Given the description of an element on the screen output the (x, y) to click on. 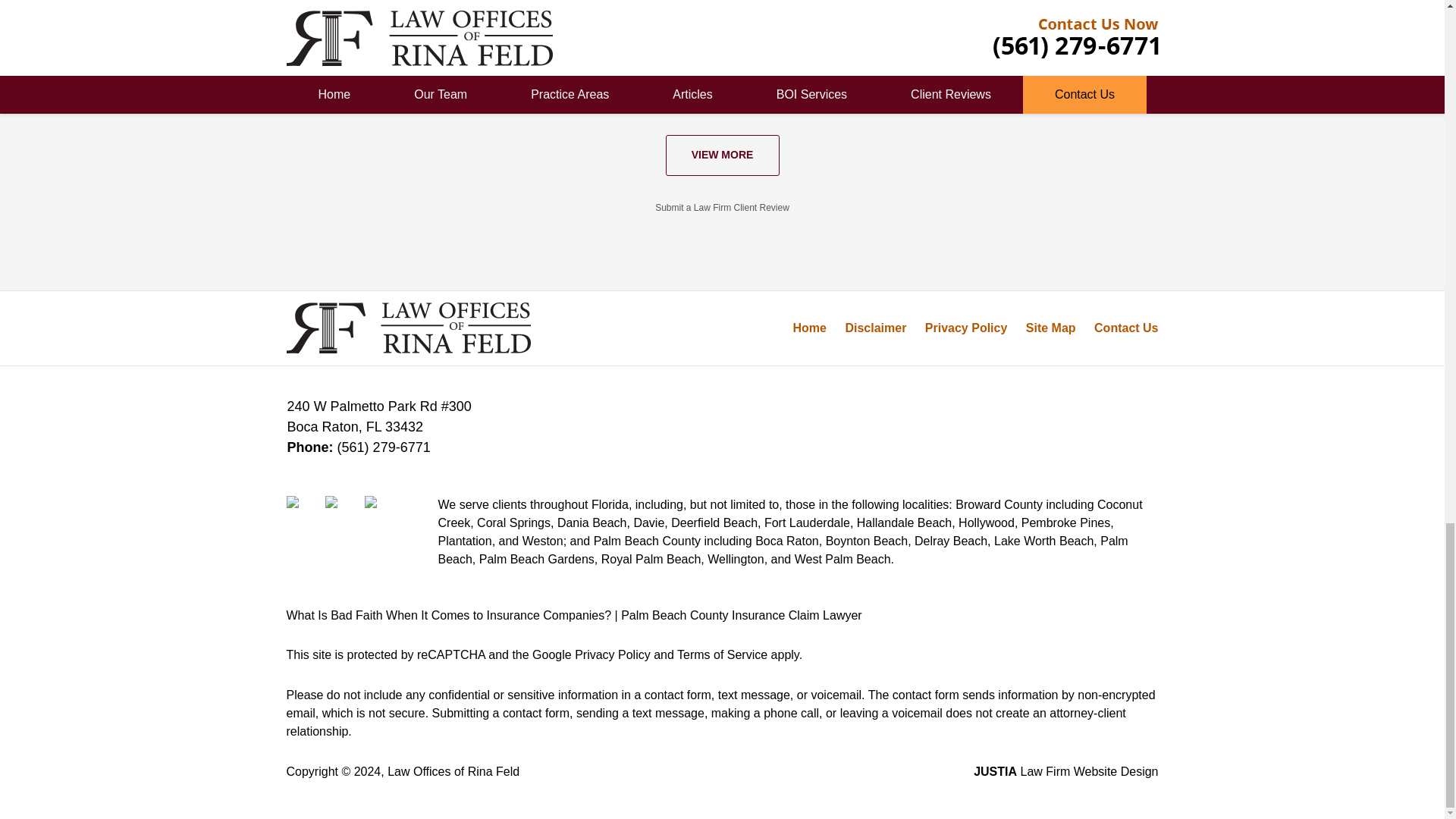
Facebook (303, 513)
Justia (382, 513)
Submit a Law Firm Client Review (722, 207)
VIEW MORE (721, 155)
Twitter (342, 513)
